Given the description of an element on the screen output the (x, y) to click on. 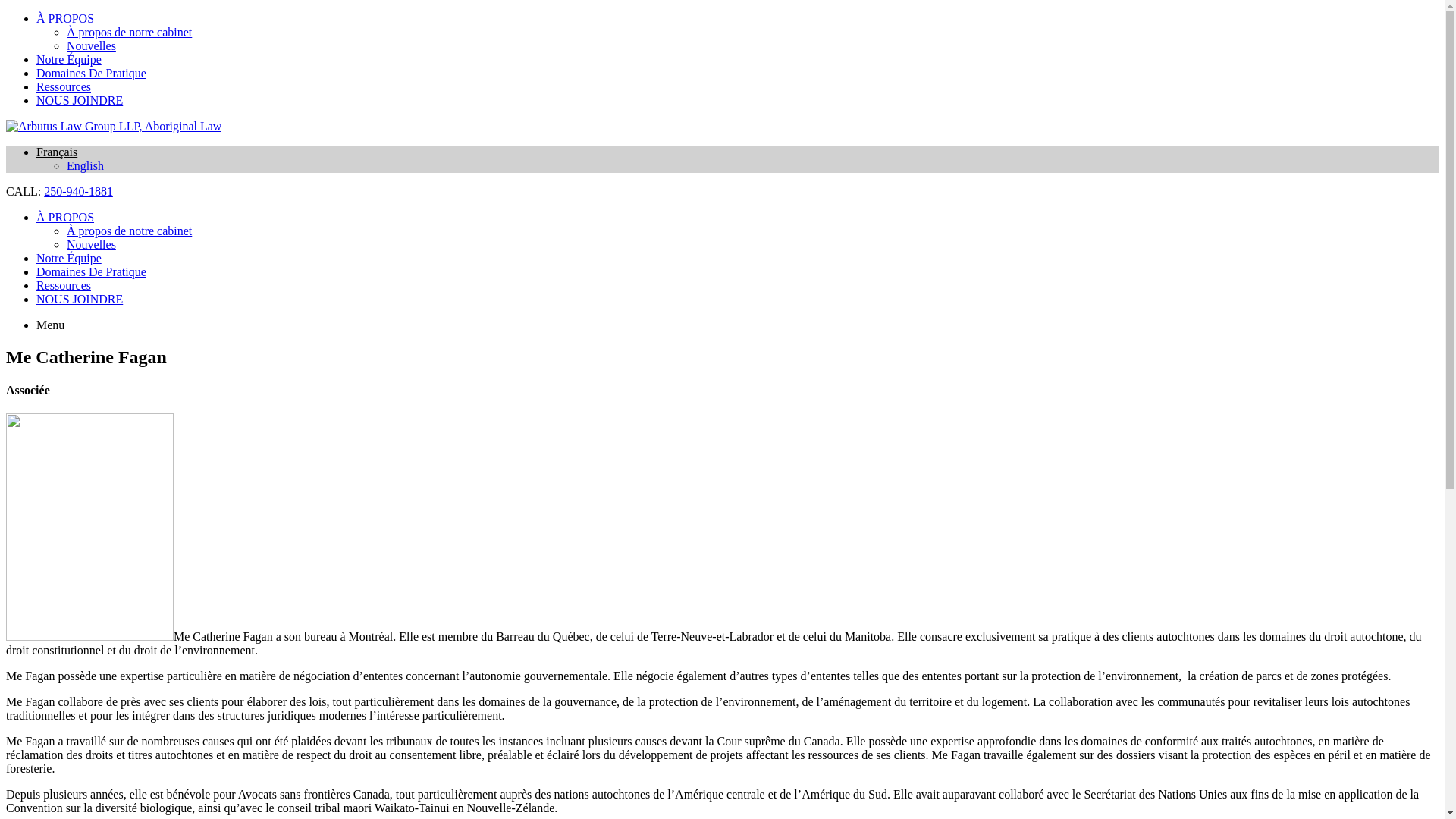
NOUS JOINDRE Element type: text (79, 298)
Ressources Element type: text (63, 285)
NOUS JOINDRE Element type: text (79, 100)
English Element type: text (84, 165)
Ressources Element type: text (63, 86)
Nouvelles Element type: text (91, 244)
Menu Element type: text (50, 324)
Nouvelles Element type: text (91, 45)
Domaines De Pratique Element type: text (91, 271)
Domaines De Pratique Element type: text (91, 72)
250-940-1881 Element type: text (77, 191)
